Given the description of an element on the screen output the (x, y) to click on. 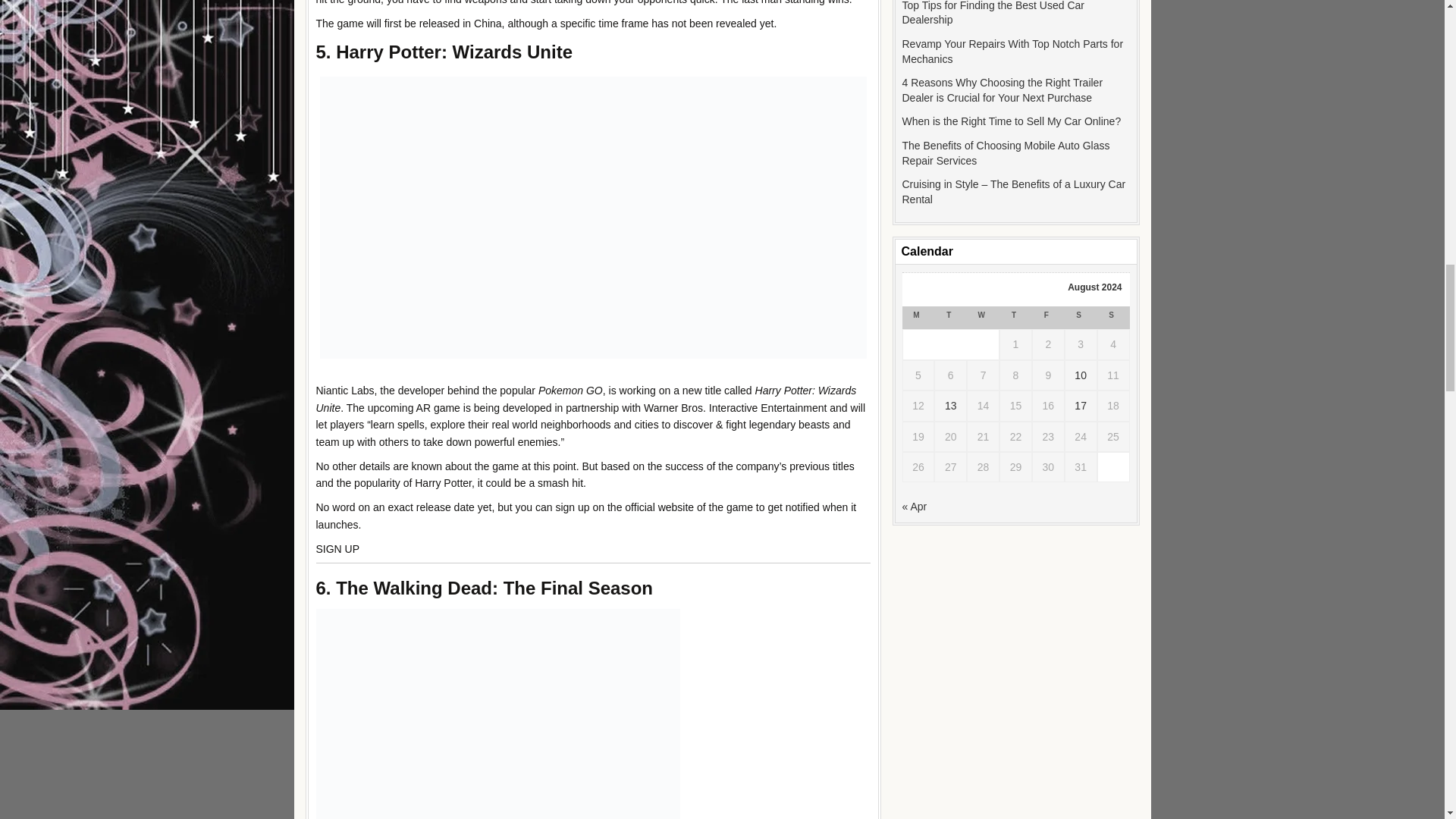
Saturday (1080, 317)
Sunday (1113, 317)
Wednesday (982, 317)
Thursday (1015, 317)
Tuesday (950, 317)
Friday (1048, 317)
Monday (918, 317)
